Given the description of an element on the screen output the (x, y) to click on. 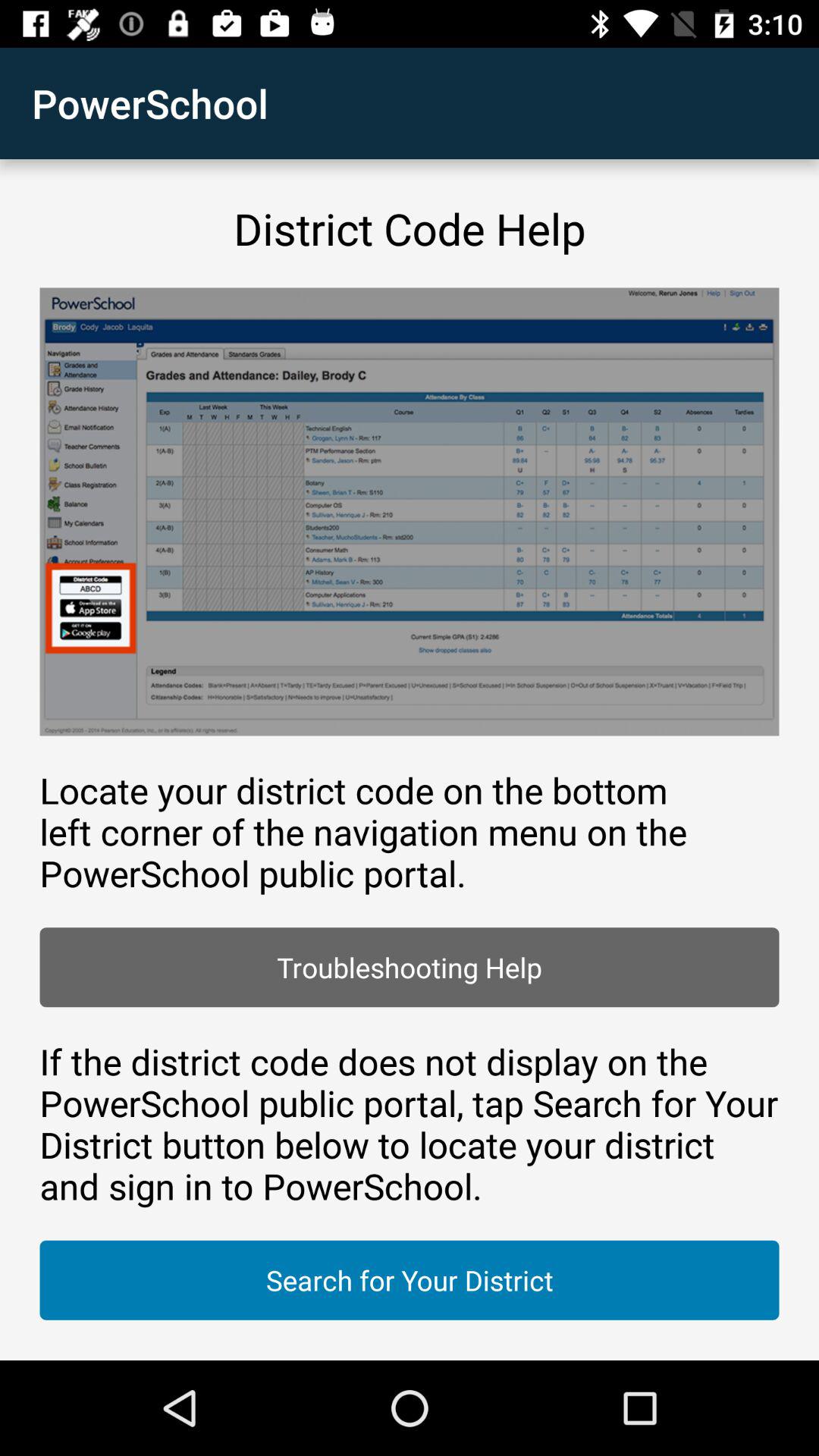
choose the icon above the if the district icon (409, 967)
